Given the description of an element on the screen output the (x, y) to click on. 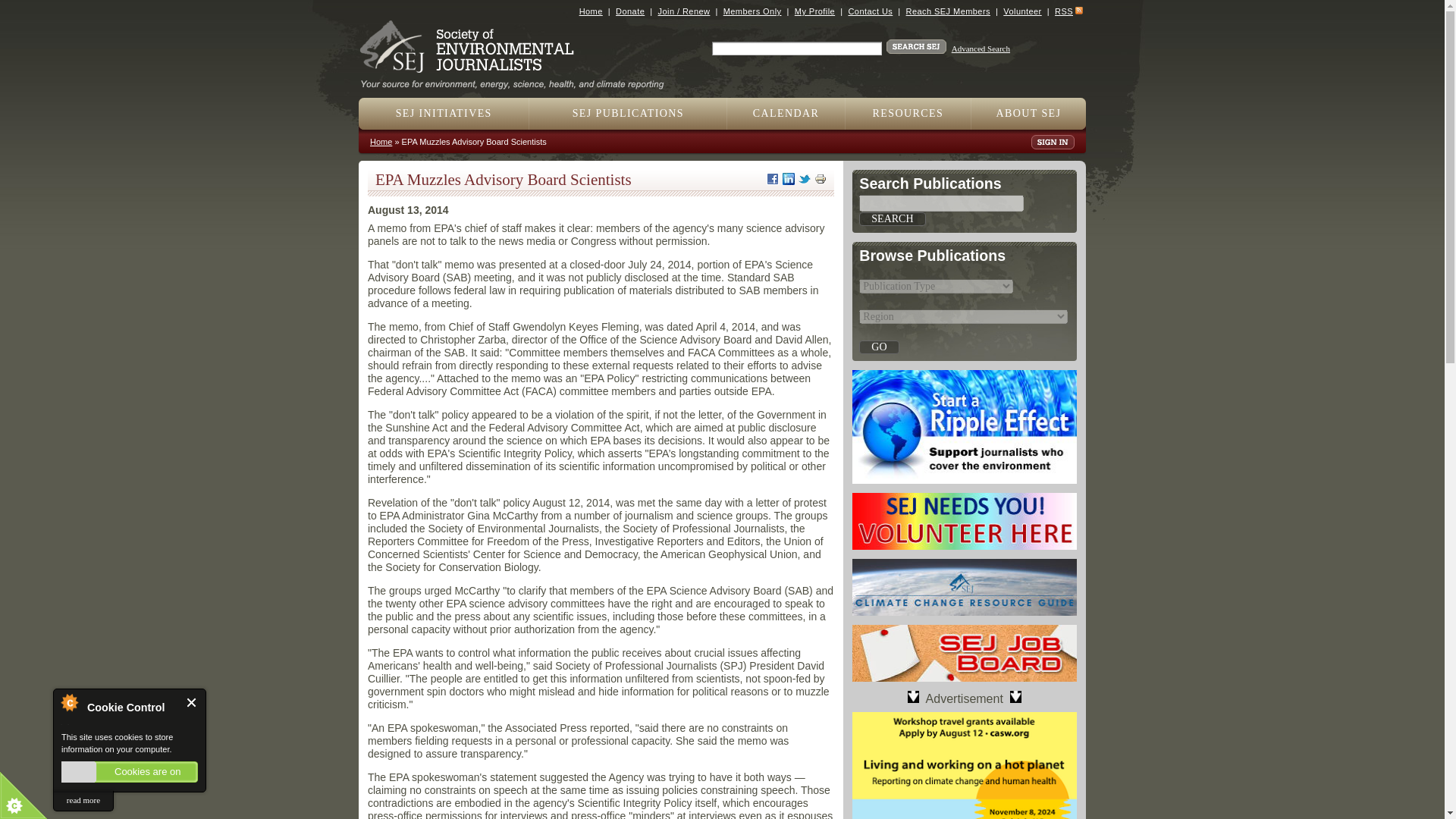
read more (82, 801)
SEJ PUBLICATIONS (627, 113)
Donate (630, 10)
RSS (1063, 10)
Volunteer (1022, 10)
Home (518, 79)
My Profile (814, 10)
Close (191, 702)
Reach SEJ Members (947, 10)
Search (891, 219)
